Given the description of an element on the screen output the (x, y) to click on. 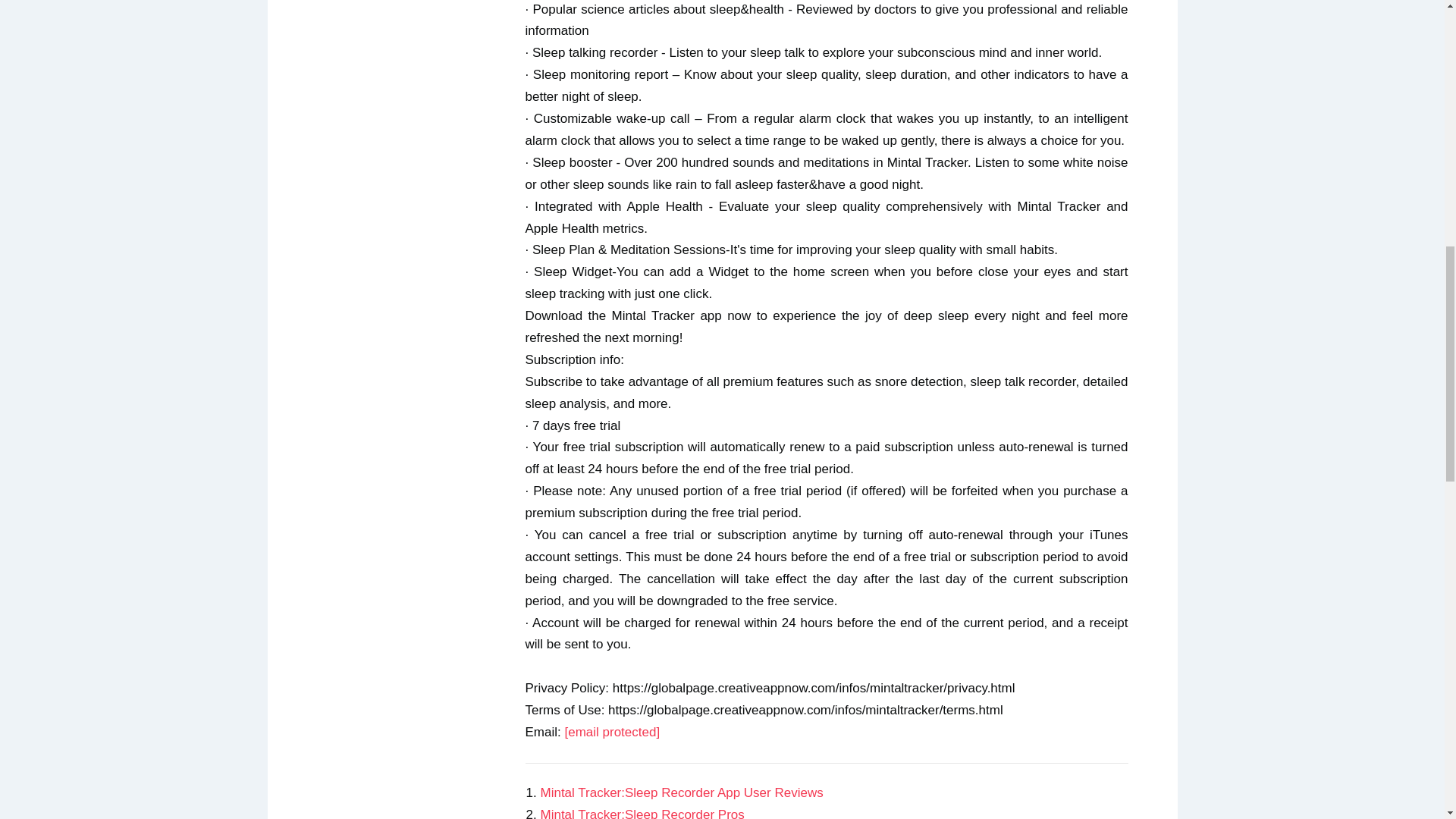
Mintal Tracker:Sleep Recorder App User Reviews (681, 792)
Mintal Tracker:Sleep Recorder Pros (642, 813)
Mintal Tracker:Sleep Recorder Pros (642, 813)
Mintal Tracker:Sleep Recorder App User Reviews (681, 792)
